Given the description of an element on the screen output the (x, y) to click on. 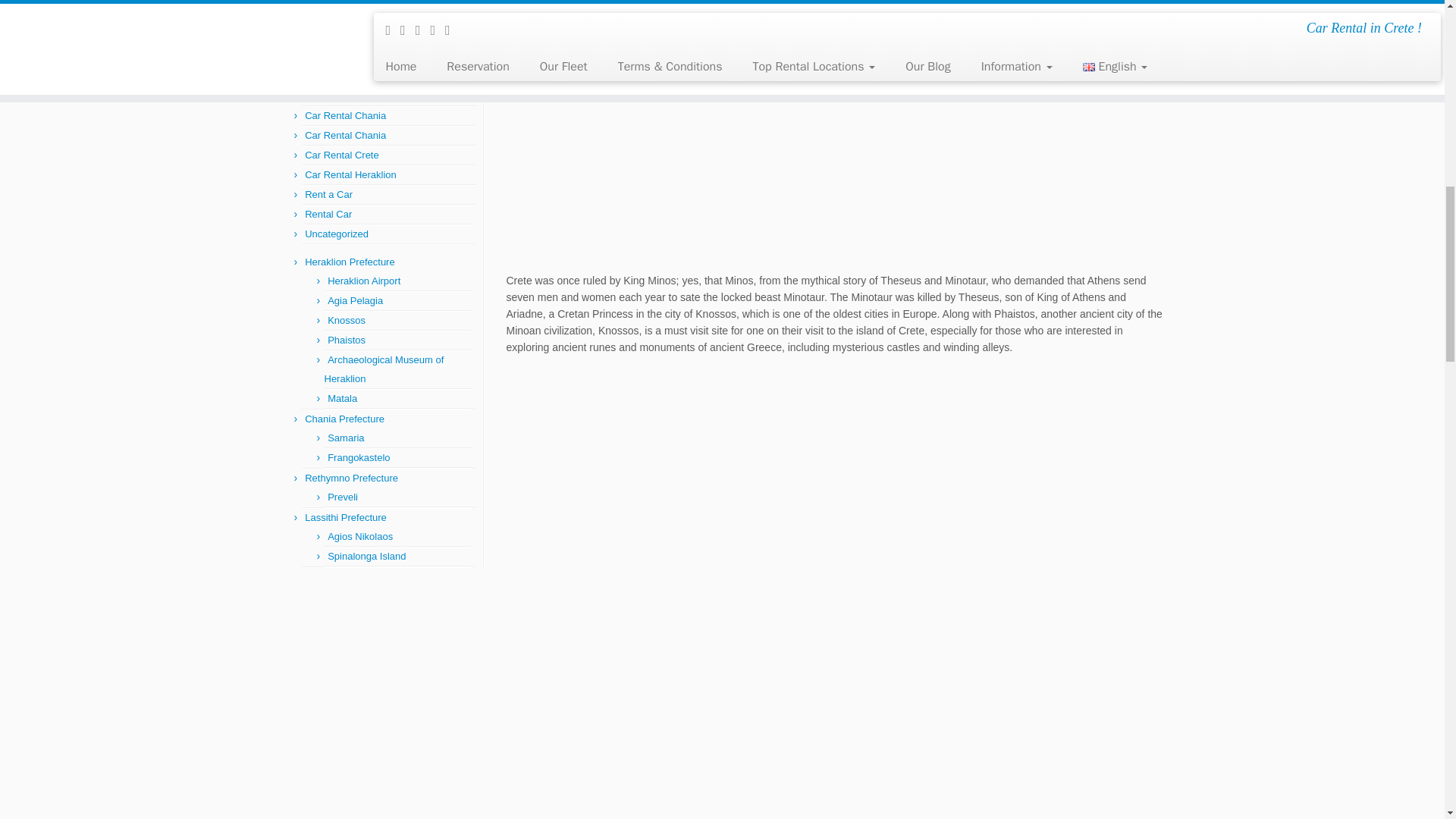
Rental Car (328, 214)
About Crete (330, 75)
Car Rental Crete (341, 154)
Car Rental Chania (344, 115)
Car Rental (328, 95)
Car Rental Heraklion (350, 174)
Car Rental Chania (344, 134)
Rent a Car (328, 194)
